Given the description of an element on the screen output the (x, y) to click on. 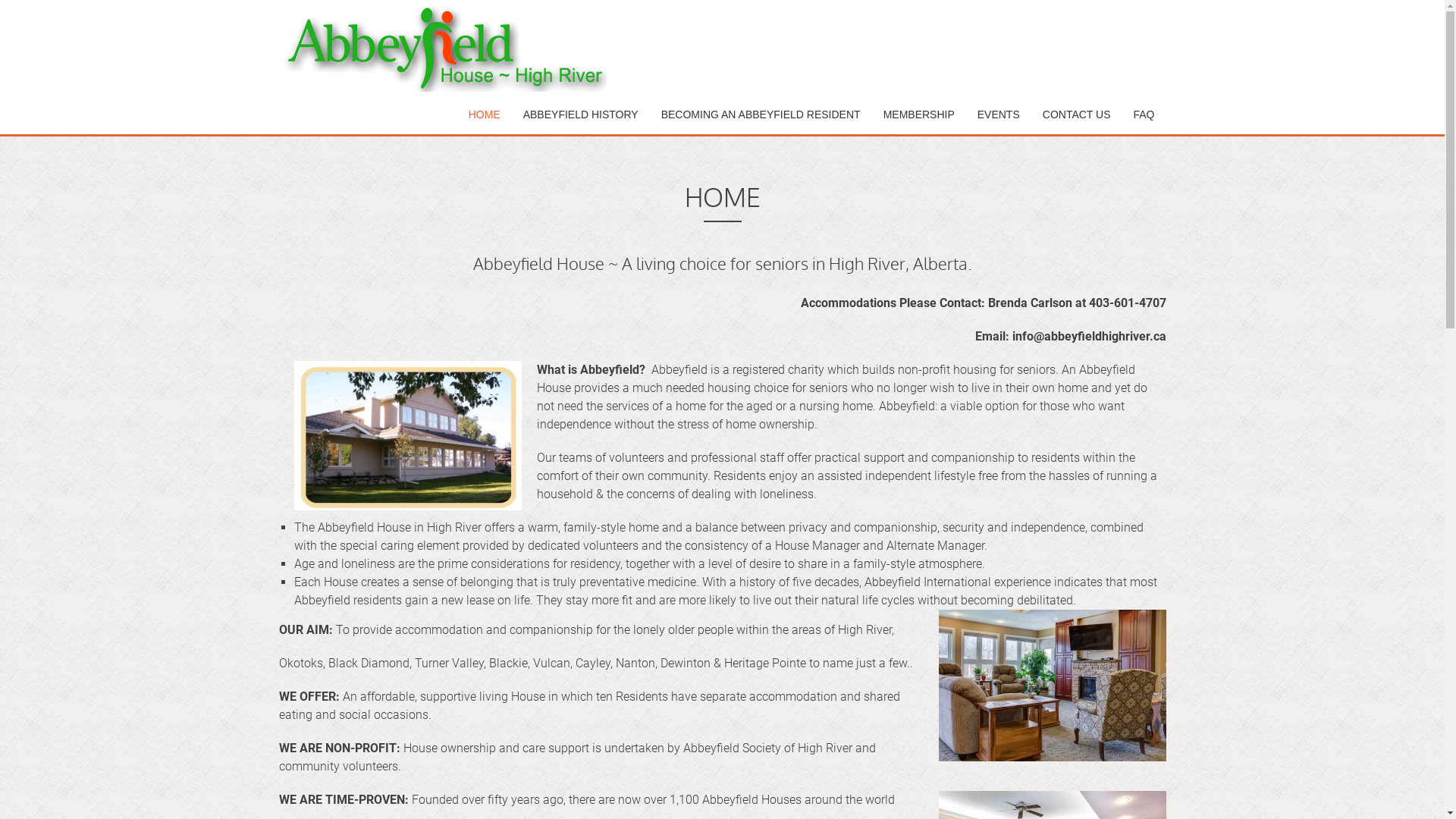
FAQ Element type: text (1143, 114)
HOME Element type: text (484, 114)
MEMBERSHIP Element type: text (919, 114)
BECOMING AN ABBEYFIELD RESIDENT Element type: text (760, 114)
ABBEYFIELD HISTORY Element type: text (580, 114)
CONTACT US Element type: text (1076, 114)
EVENTS Element type: text (998, 114)
